Given the description of an element on the screen output the (x, y) to click on. 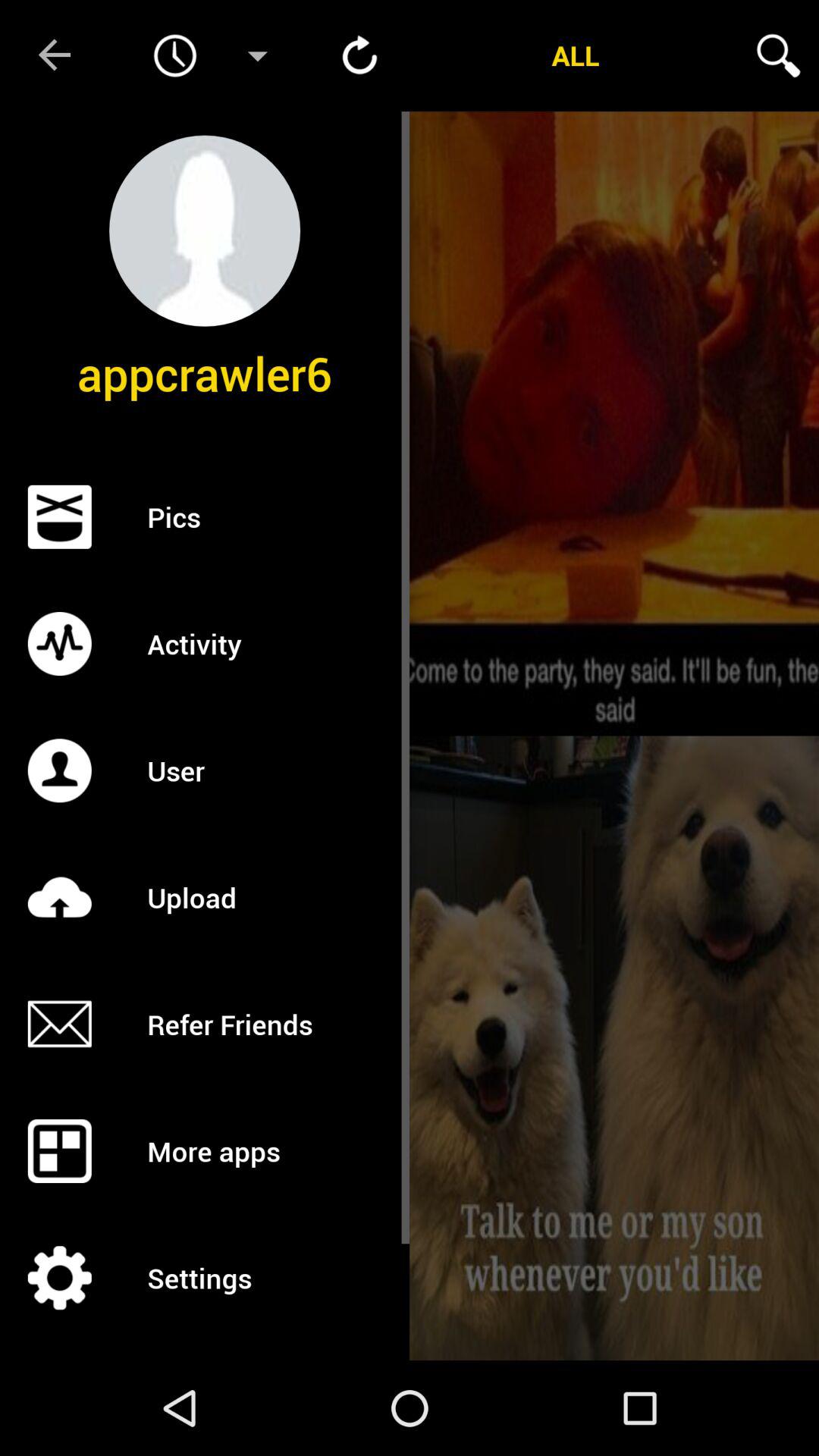
search toggle (778, 55)
